Given the description of an element on the screen output the (x, y) to click on. 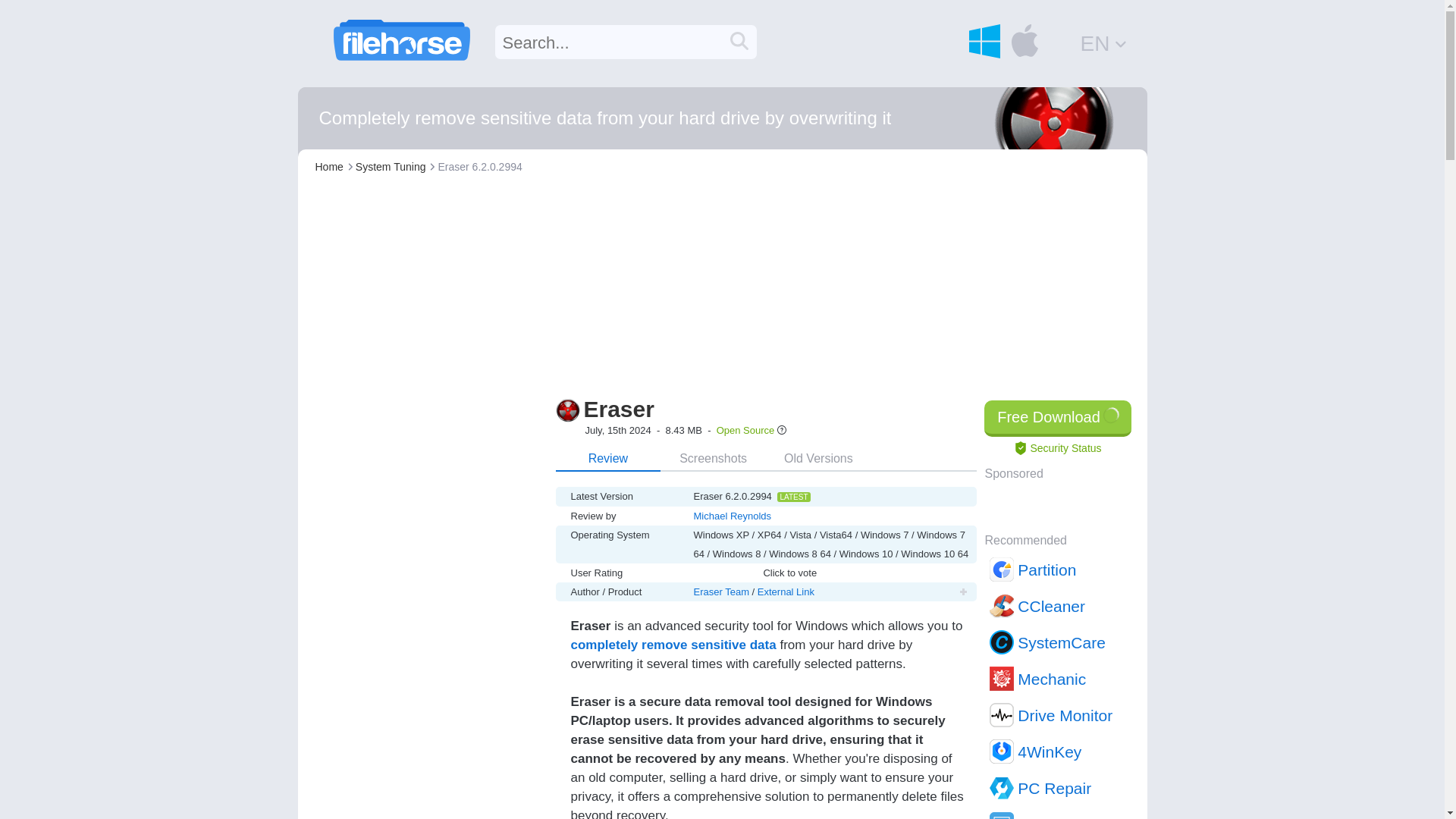
Windows (984, 41)
Mechanic (1059, 678)
System Tuning (390, 166)
Drive Monitor (1059, 714)
CCleaner (1059, 606)
Partition (1059, 569)
PC Repair (1059, 787)
Free Download (1057, 418)
Security Status (1056, 448)
English (1103, 42)
